Given the description of an element on the screen output the (x, y) to click on. 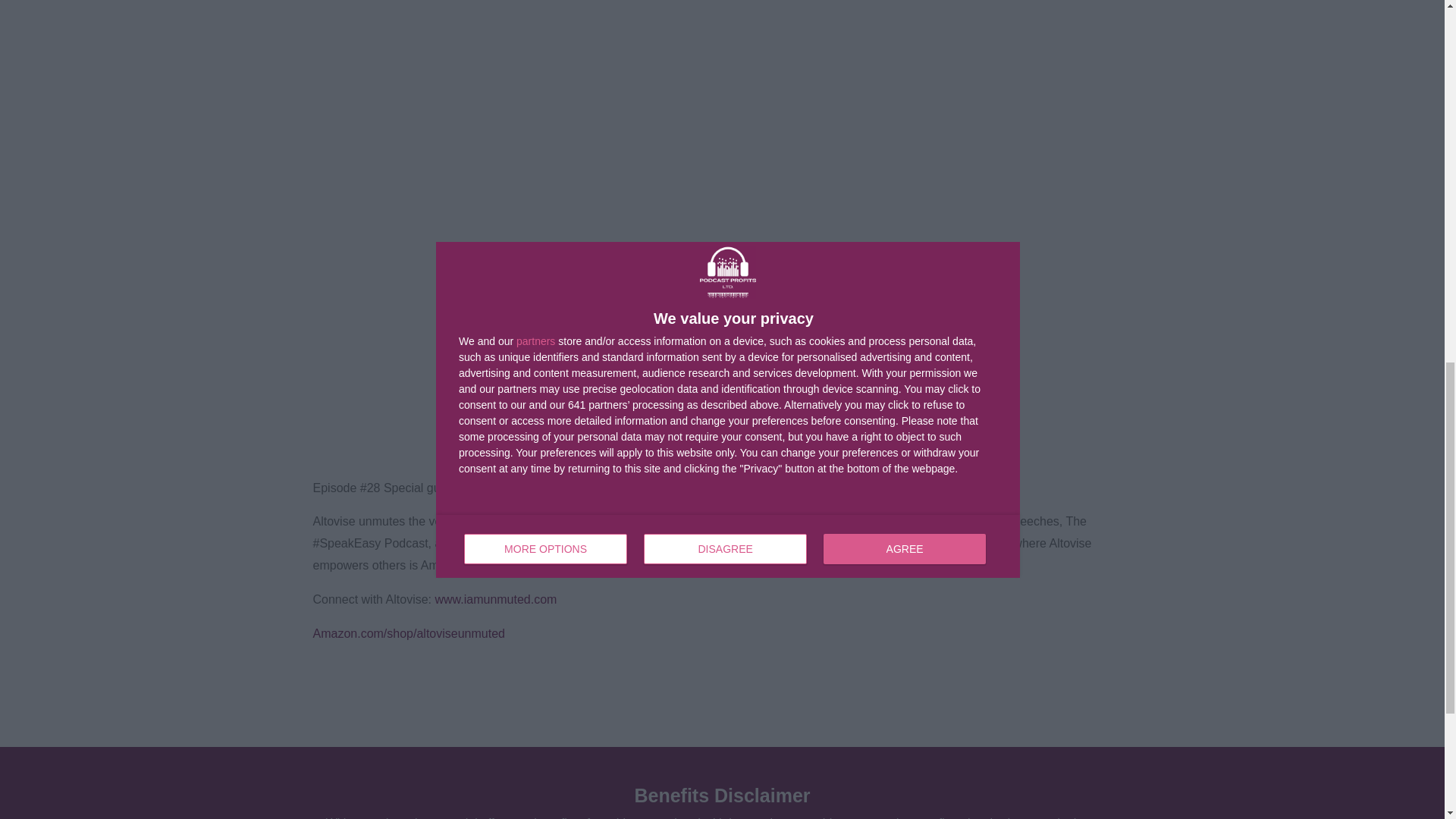
www.iamunmuted.com (494, 599)
